Given the description of an element on the screen output the (x, y) to click on. 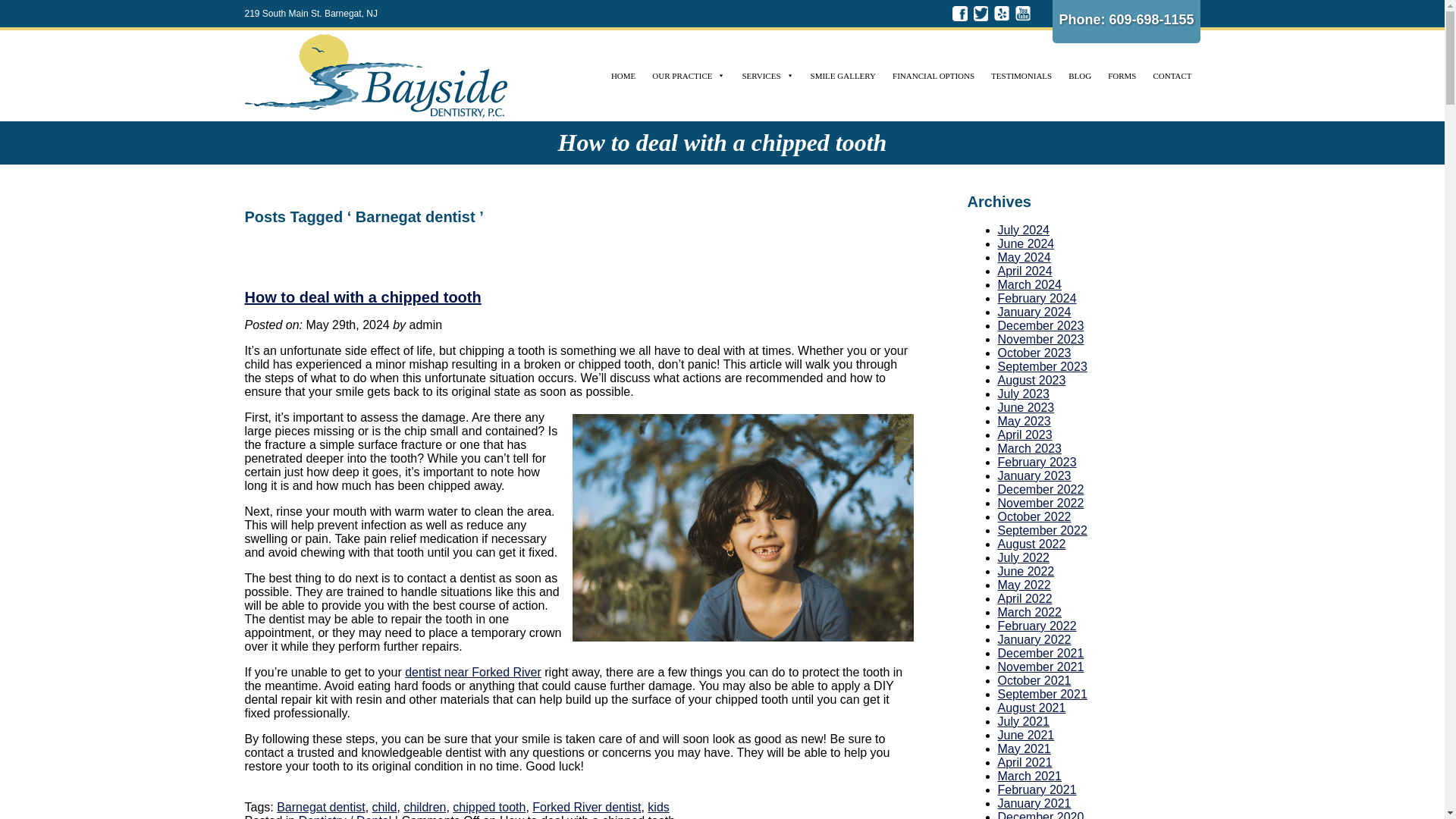
TESTIMONIALS (1020, 75)
children (424, 807)
OUR PRACTICE (688, 75)
SMILE GALLERY (842, 75)
Barnegat Dentistry Barnegat Manahawkin Dentist Youtube (1022, 13)
Barnegat dentist (320, 807)
Barnegat Dentistry Barnegat Manahawkin Dentist Yelp (1001, 13)
609-698-1155 (1150, 19)
Barnegat Dentistry Barnegat Manahawkin Dentist Twitter (981, 13)
SERVICES (767, 75)
FINANCIAL OPTIONS (932, 75)
FORMS (1121, 75)
HOME (622, 75)
child (384, 807)
CONTACT (1171, 75)
